Given the description of an element on the screen output the (x, y) to click on. 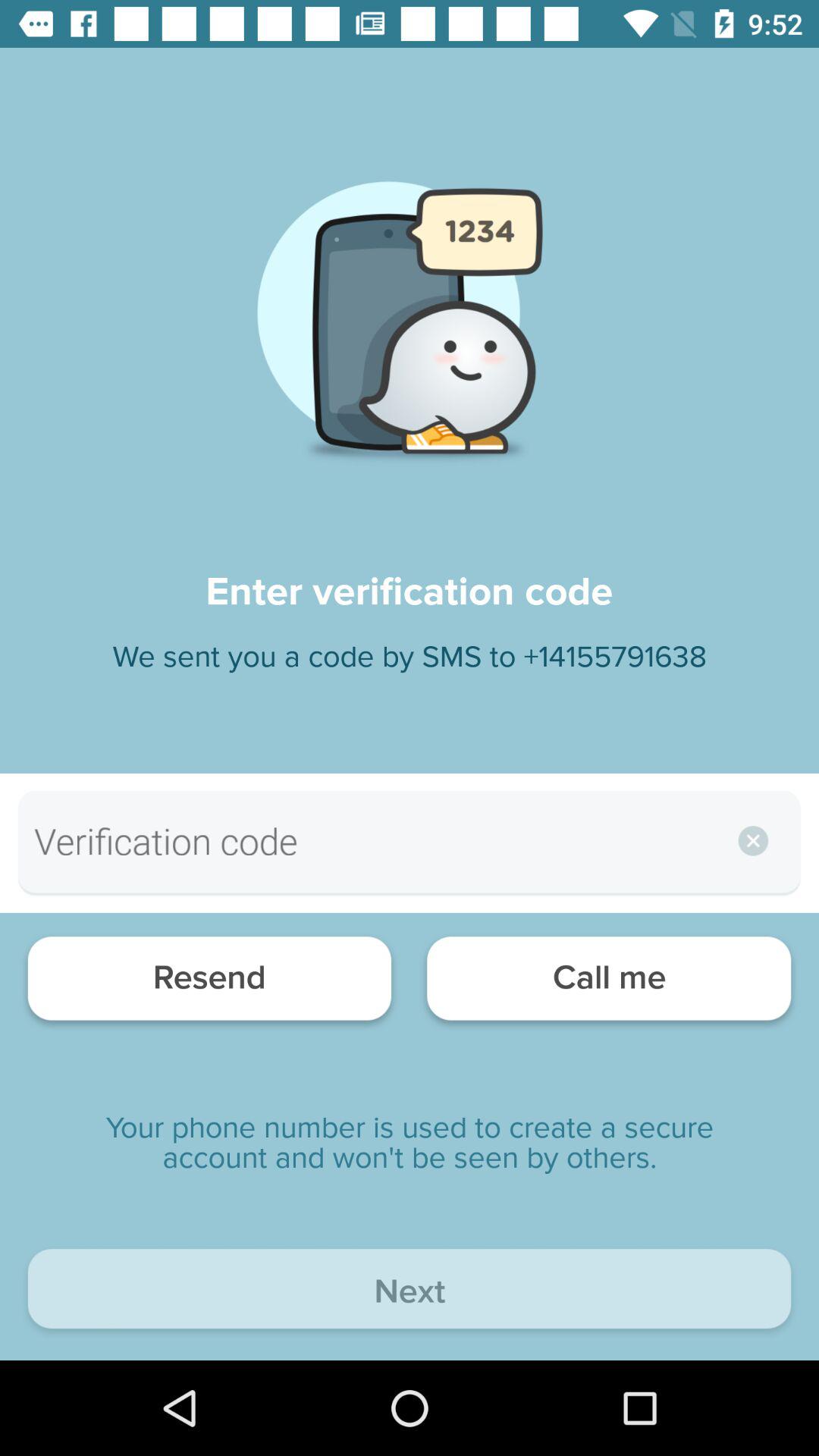
tap item next to the call me (209, 982)
